Given the description of an element on the screen output the (x, y) to click on. 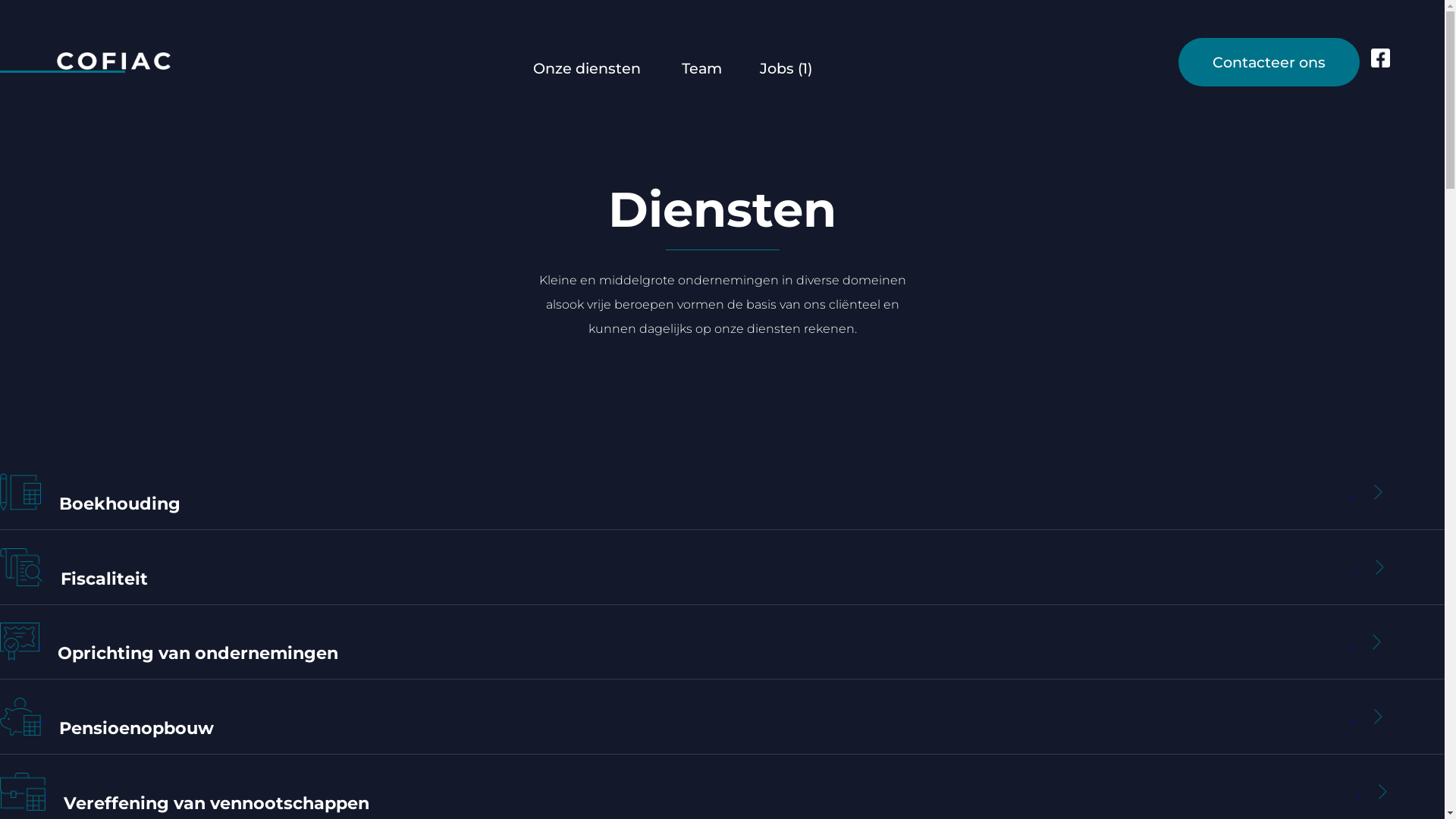
Fiscaliteit Element type: text (722, 567)
Cofiac Accountantskantoor Boekhouder Ninove Element type: text (85, 60)
Boekhouding Element type: text (722, 492)
Contacteer ons Element type: text (1268, 61)
Onze diensten Element type: text (586, 68)
Team Element type: text (700, 68)
Pensioenopbouw Element type: text (722, 716)
Jobs (1) Element type: text (785, 68)
Oprichting van ondernemingen Element type: text (722, 642)
